Given the description of an element on the screen output the (x, y) to click on. 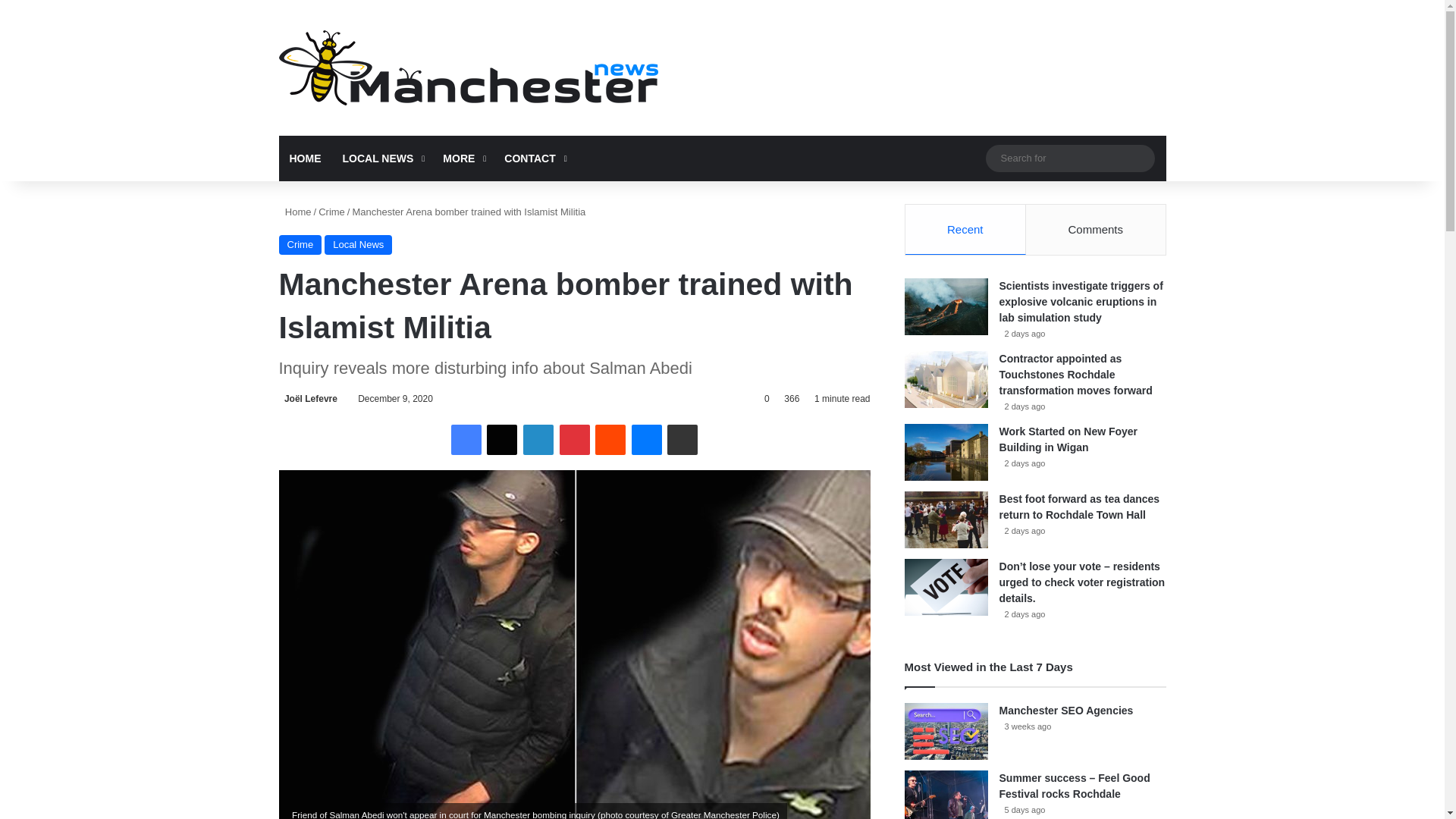
CONTACT (533, 157)
Reddit (610, 440)
X (501, 440)
Manchester News (468, 67)
LOCAL NEWS (381, 157)
Facebook (466, 440)
Share via Email (681, 440)
Pinterest (574, 440)
Messenger (646, 440)
HOME (305, 157)
